Given the description of an element on the screen output the (x, y) to click on. 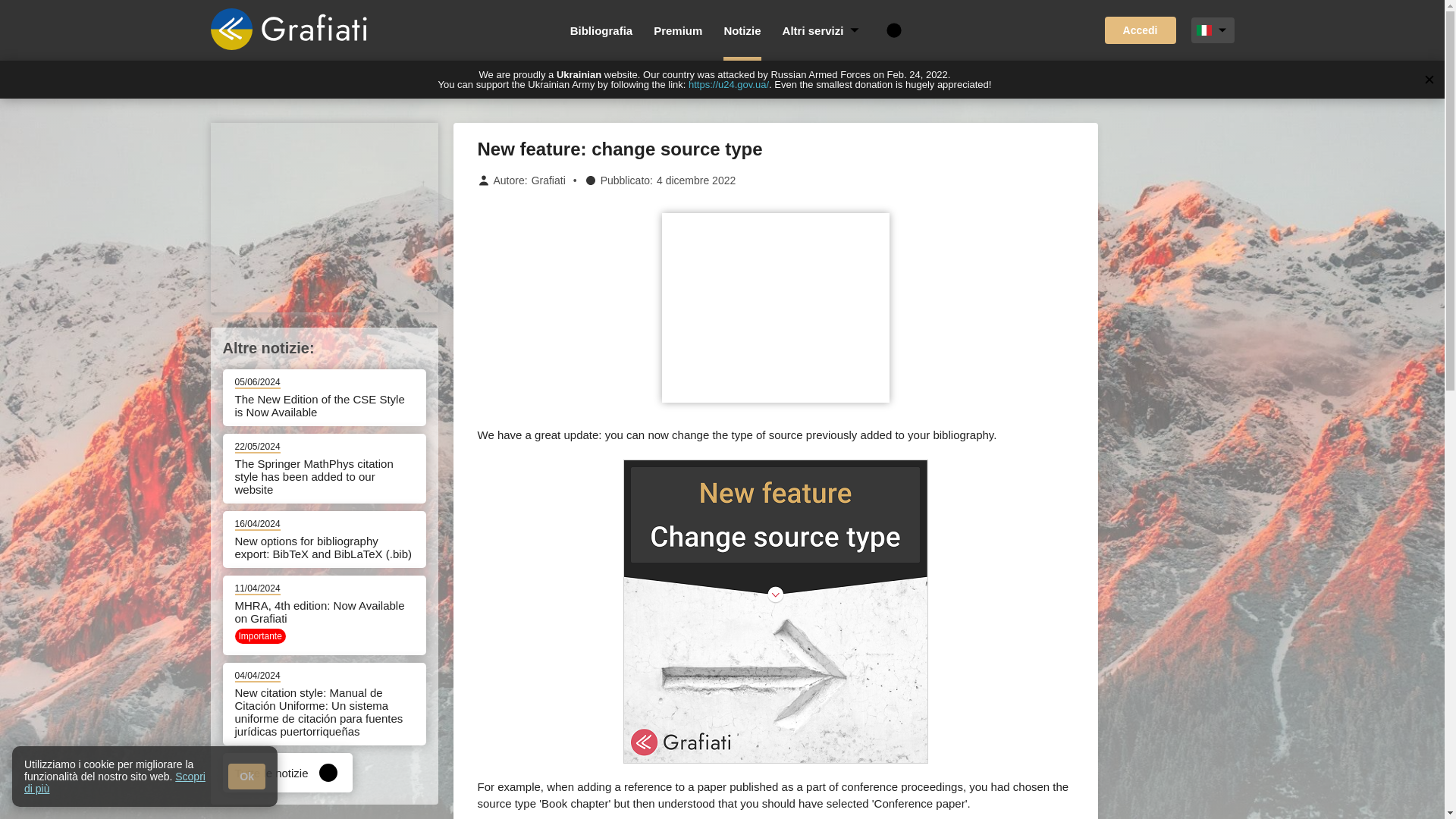
Altri servizi (823, 30)
Bibliografia (601, 30)
Italiano (1203, 30)
Accedi (1140, 30)
Advertisement (324, 217)
Advertisement (774, 307)
Grafiati (548, 180)
